Given the description of an element on the screen output the (x, y) to click on. 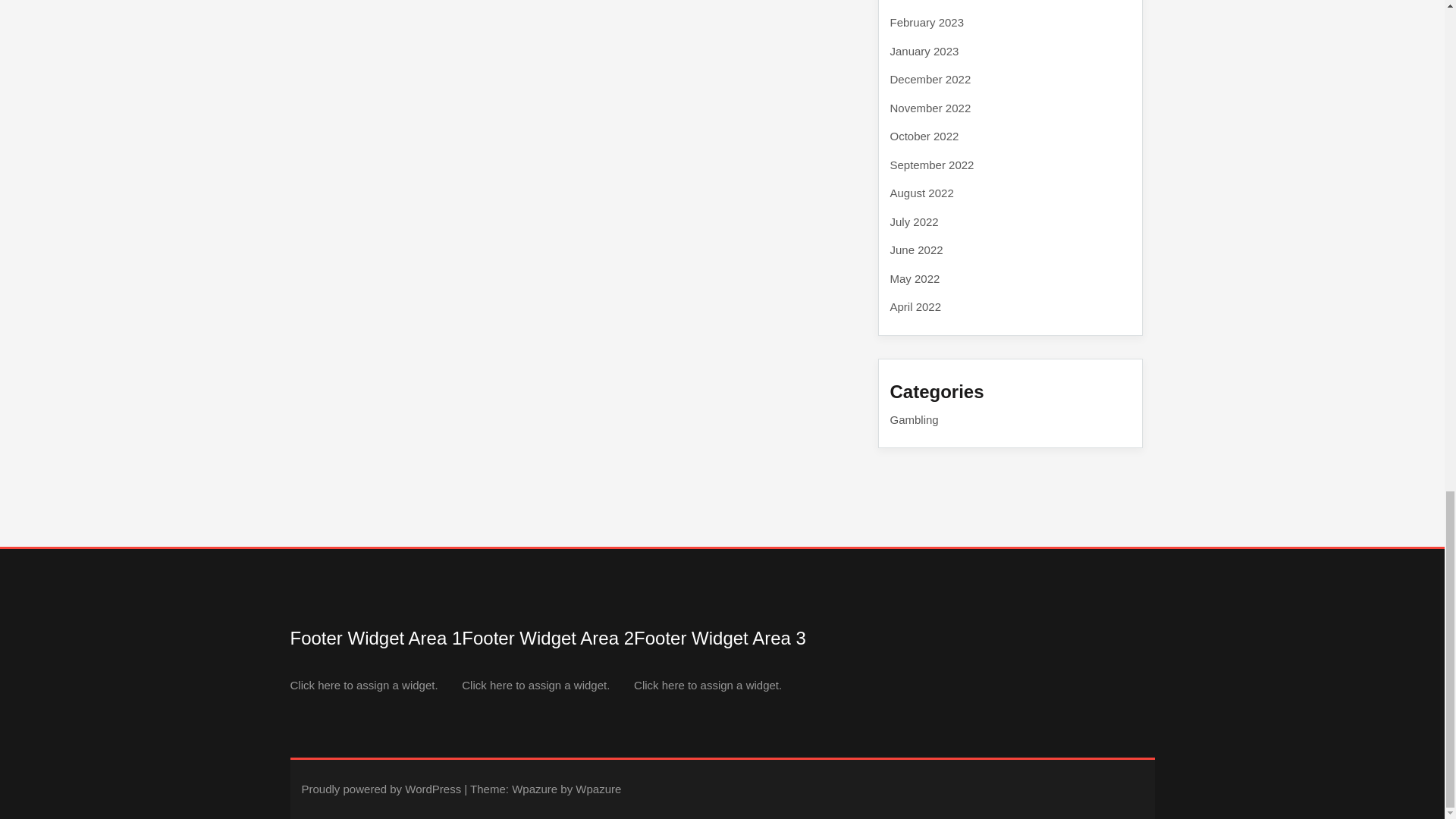
August 2022 (921, 192)
Gambling (914, 419)
June 2022 (916, 249)
January 2023 (924, 51)
Click here to assign a widget. (363, 684)
December 2022 (930, 78)
February 2023 (926, 21)
September 2022 (931, 164)
October 2022 (924, 135)
May 2022 (914, 278)
July 2022 (914, 220)
November 2022 (930, 106)
April 2022 (915, 306)
